Given the description of an element on the screen output the (x, y) to click on. 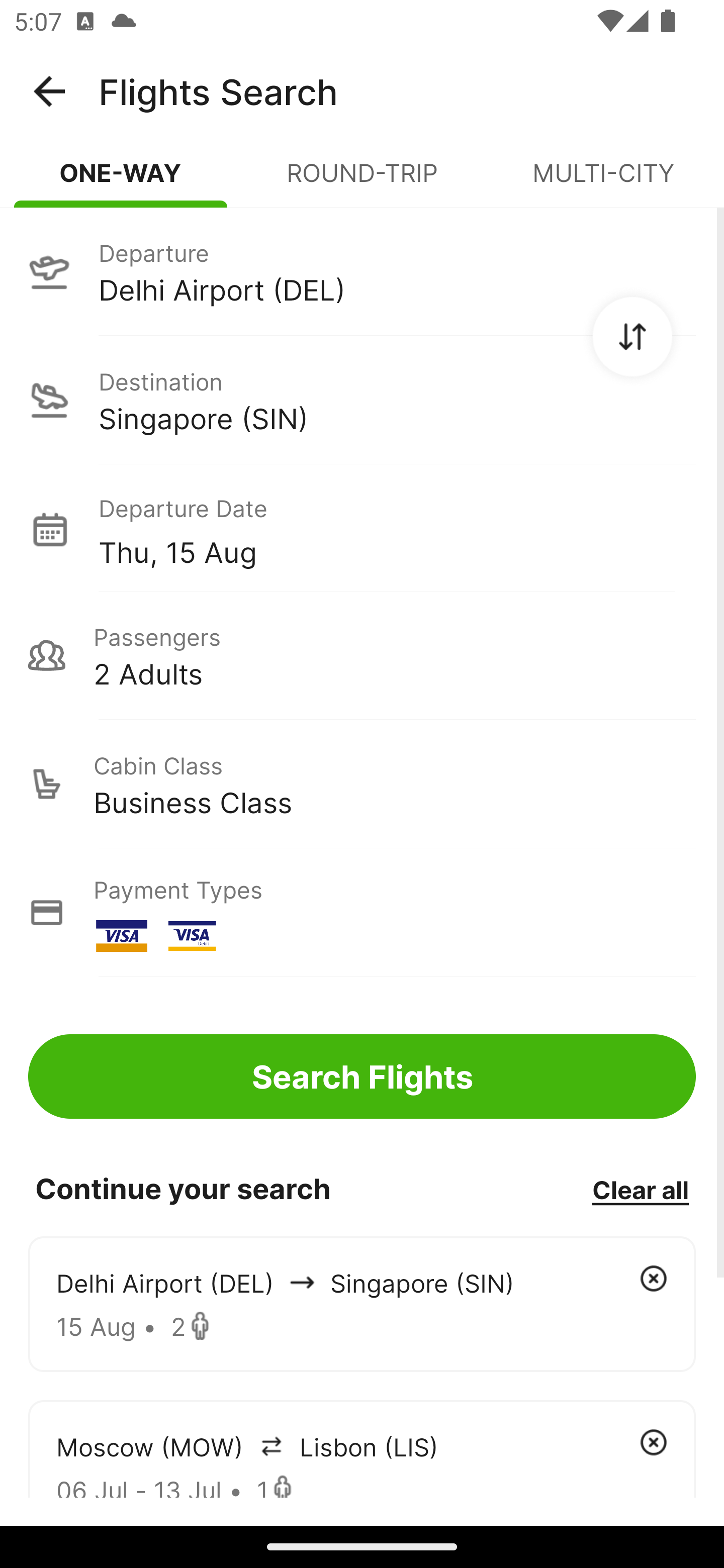
ONE-WAY (120, 180)
ROUND-TRIP (361, 180)
MULTI-CITY (603, 180)
Departure Delhi Airport (DEL) (362, 270)
Destination Singapore (SIN) (362, 400)
Departure Date Thu, 15 Aug (396, 528)
Passengers 2 Adults (362, 655)
Cabin Class Business Class (362, 783)
Payment Types (362, 912)
Search Flights (361, 1075)
Clear all (640, 1189)
